Given the description of an element on the screen output the (x, y) to click on. 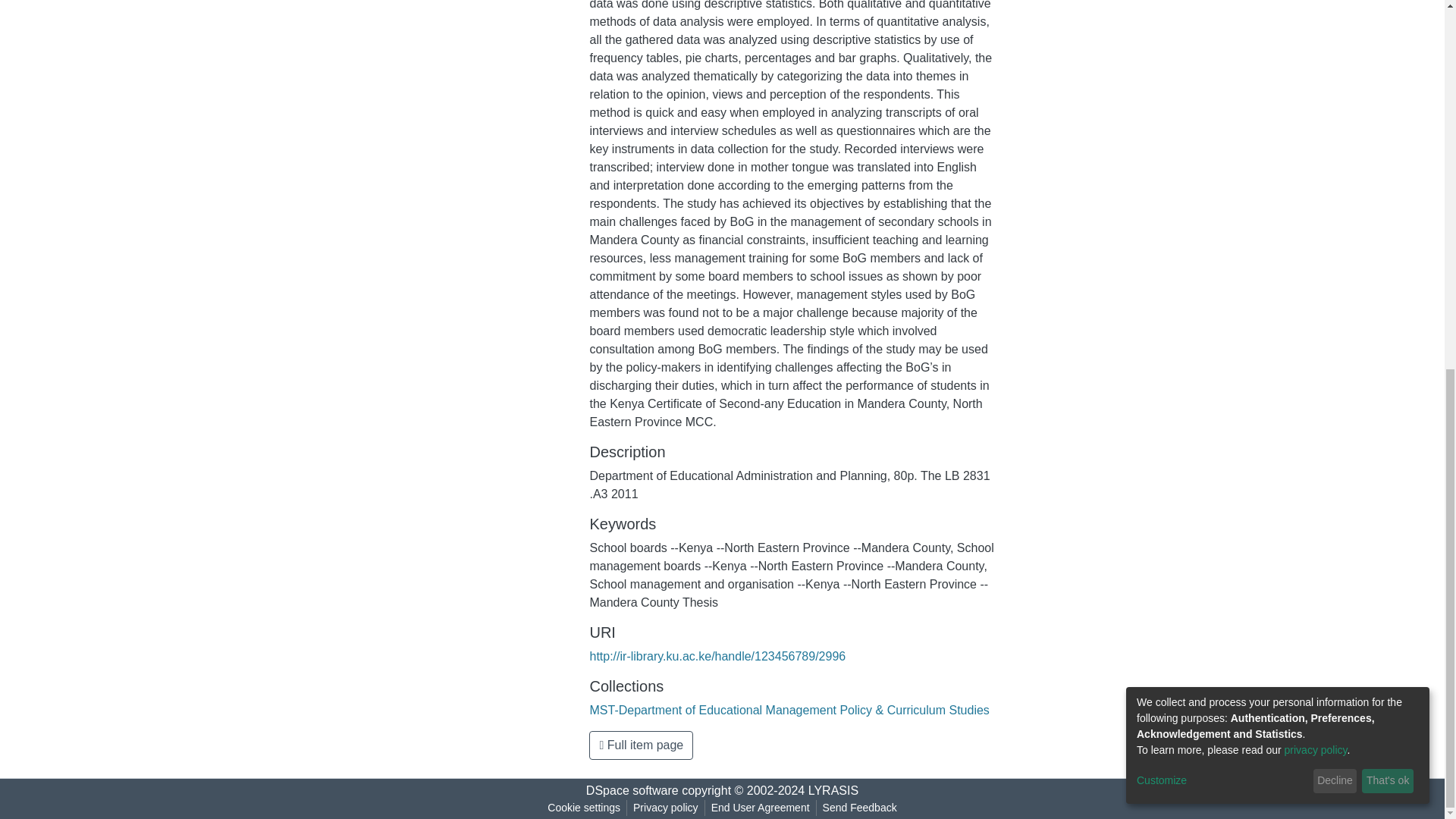
Decline (1334, 111)
Full item page (641, 745)
Send Feedback (859, 807)
privacy policy (1316, 80)
That's ok (1387, 111)
Cookie settings (583, 807)
End User Agreement (759, 807)
LYRASIS (833, 789)
DSpace software (632, 789)
Customize (1222, 111)
Privacy policy (665, 807)
